Given the description of an element on the screen output the (x, y) to click on. 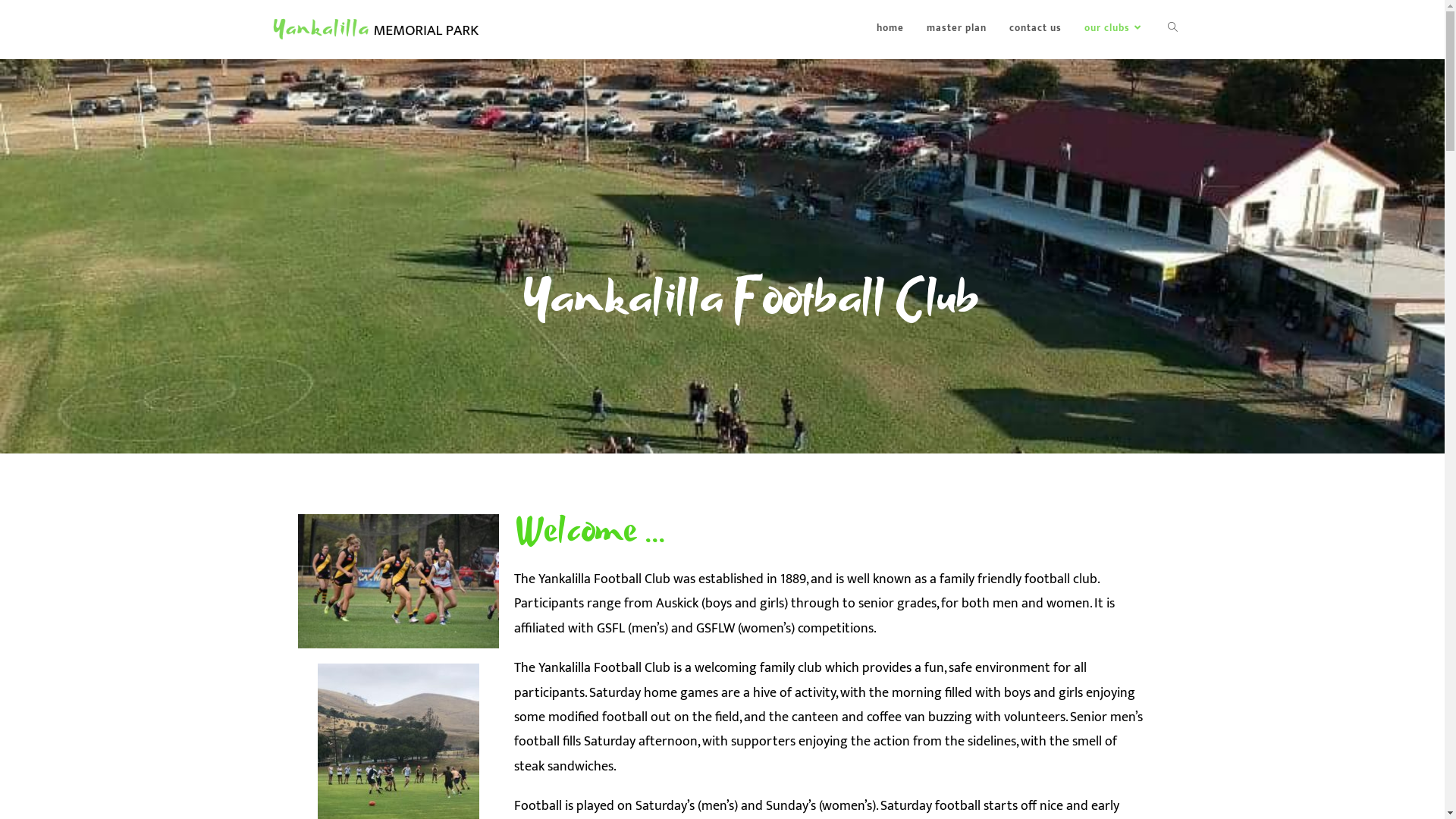
home Element type: text (889, 28)
our clubs Element type: text (1113, 28)
master plan Element type: text (955, 28)
contact us Element type: text (1035, 28)
